Given the description of an element on the screen output the (x, y) to click on. 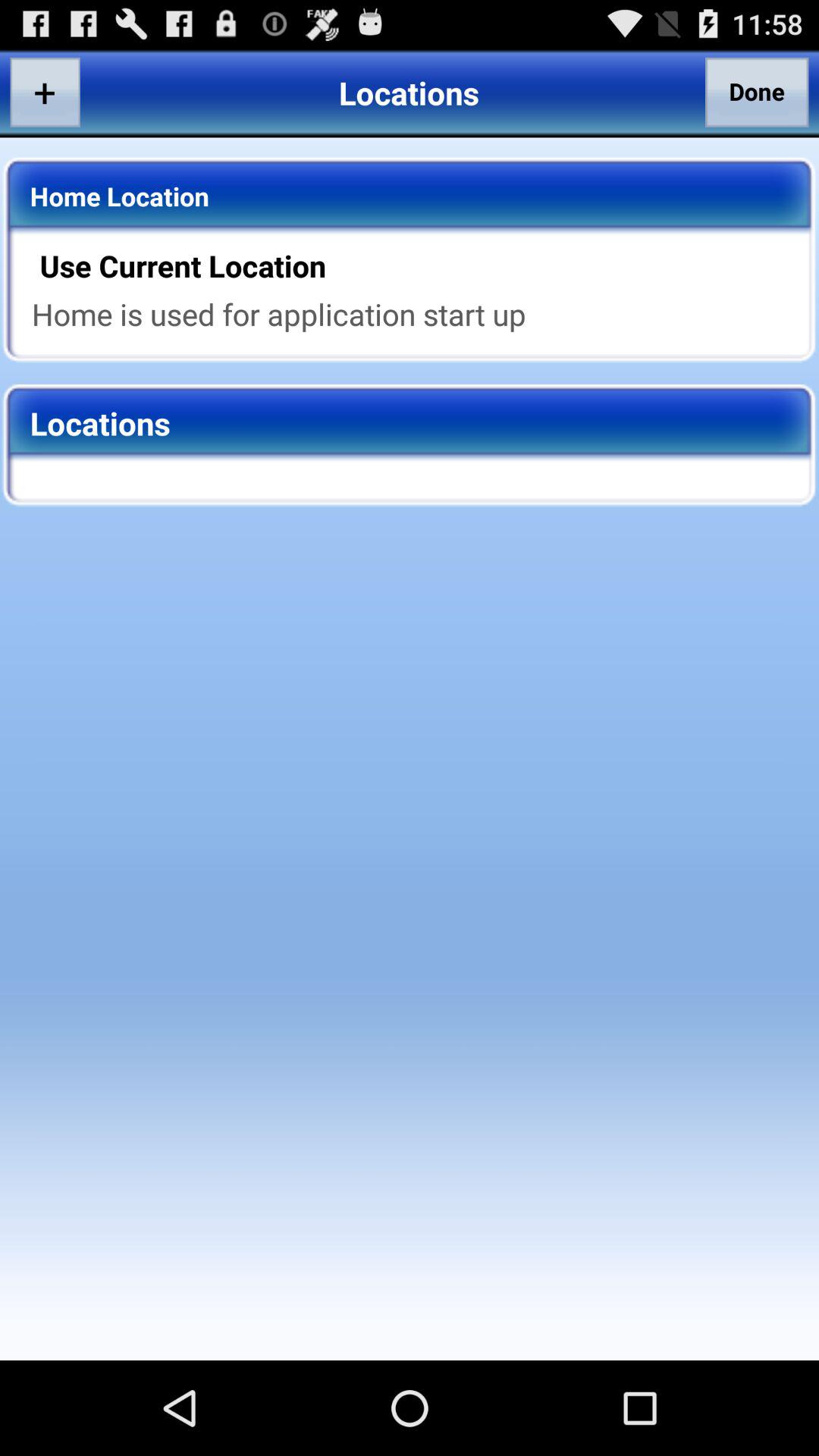
launch the use current location icon (419, 265)
